Given the description of an element on the screen output the (x, y) to click on. 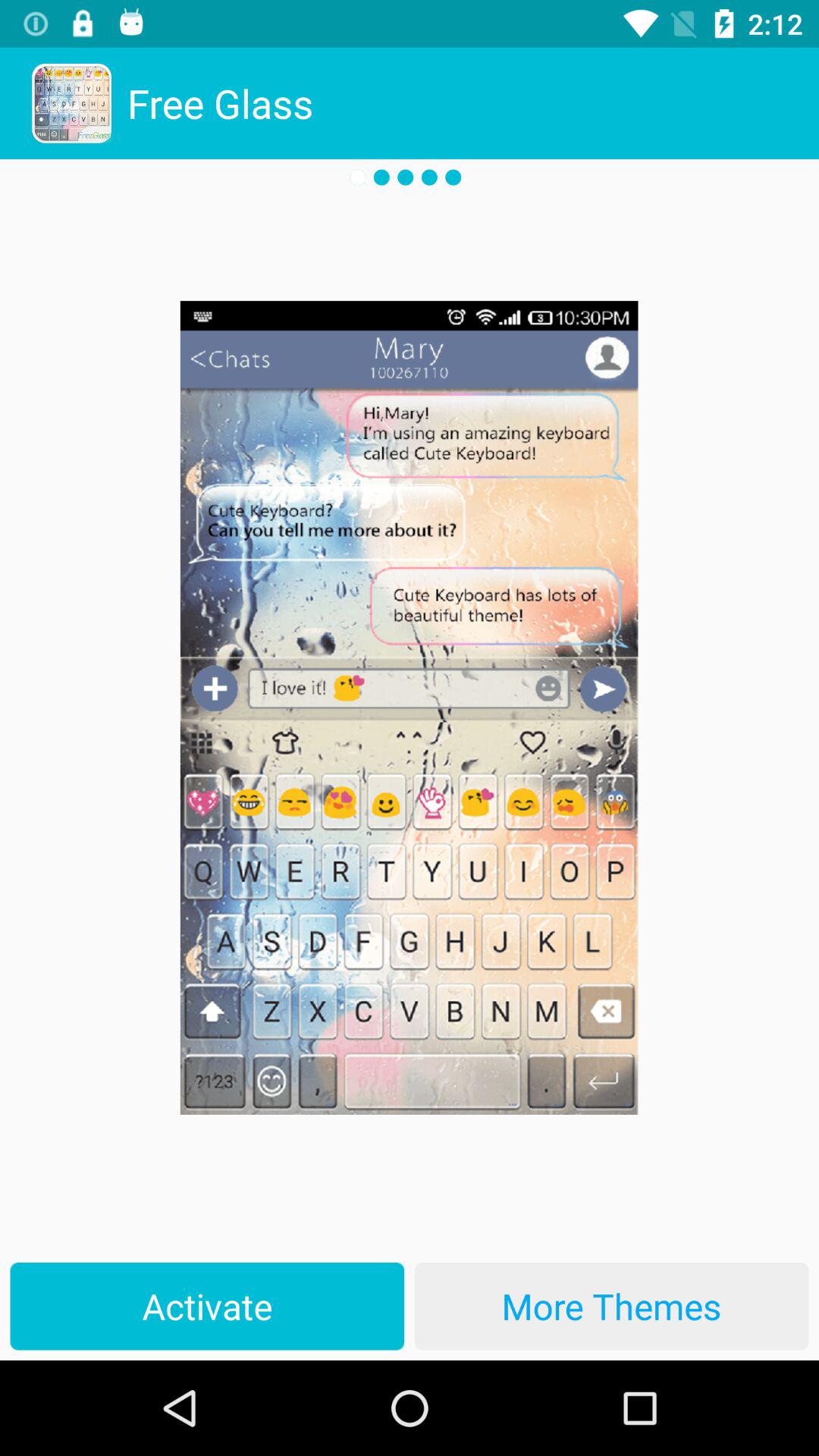
turn on activate (207, 1306)
